Given the description of an element on the screen output the (x, y) to click on. 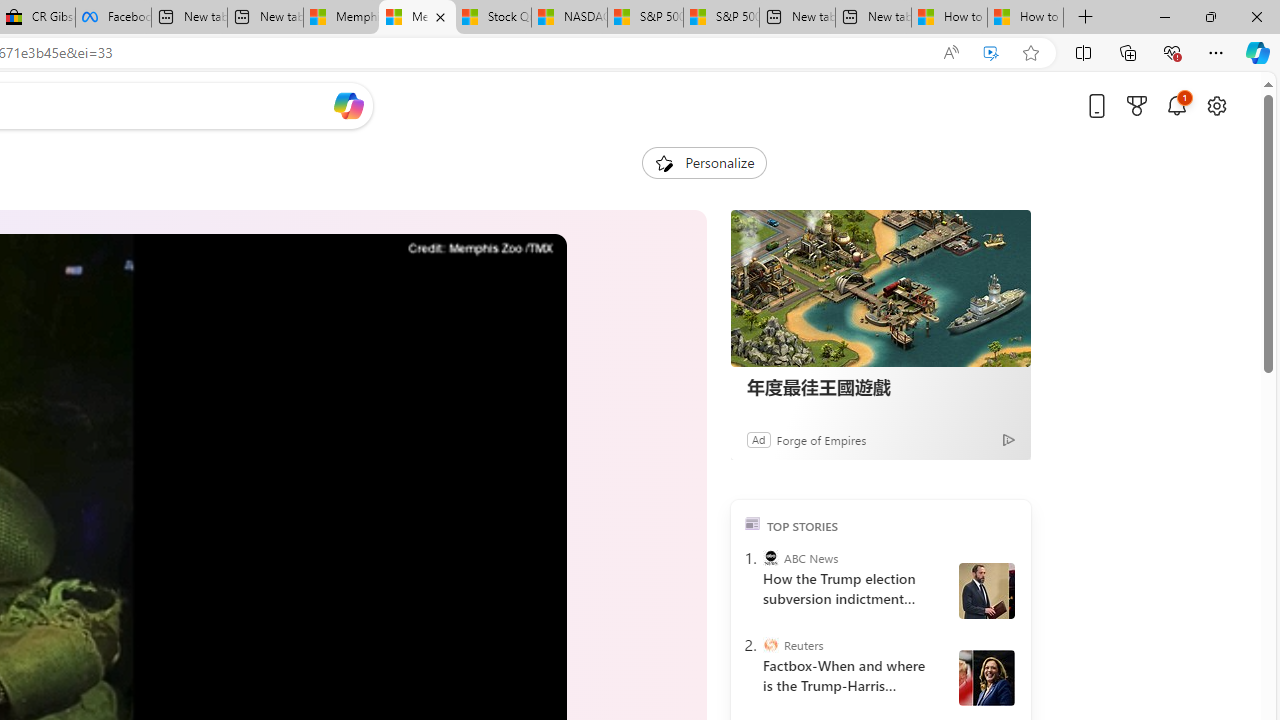
How to Use a Monitor With Your Closed Laptop (1025, 17)
Facebook (113, 17)
